Given the description of an element on the screen output the (x, y) to click on. 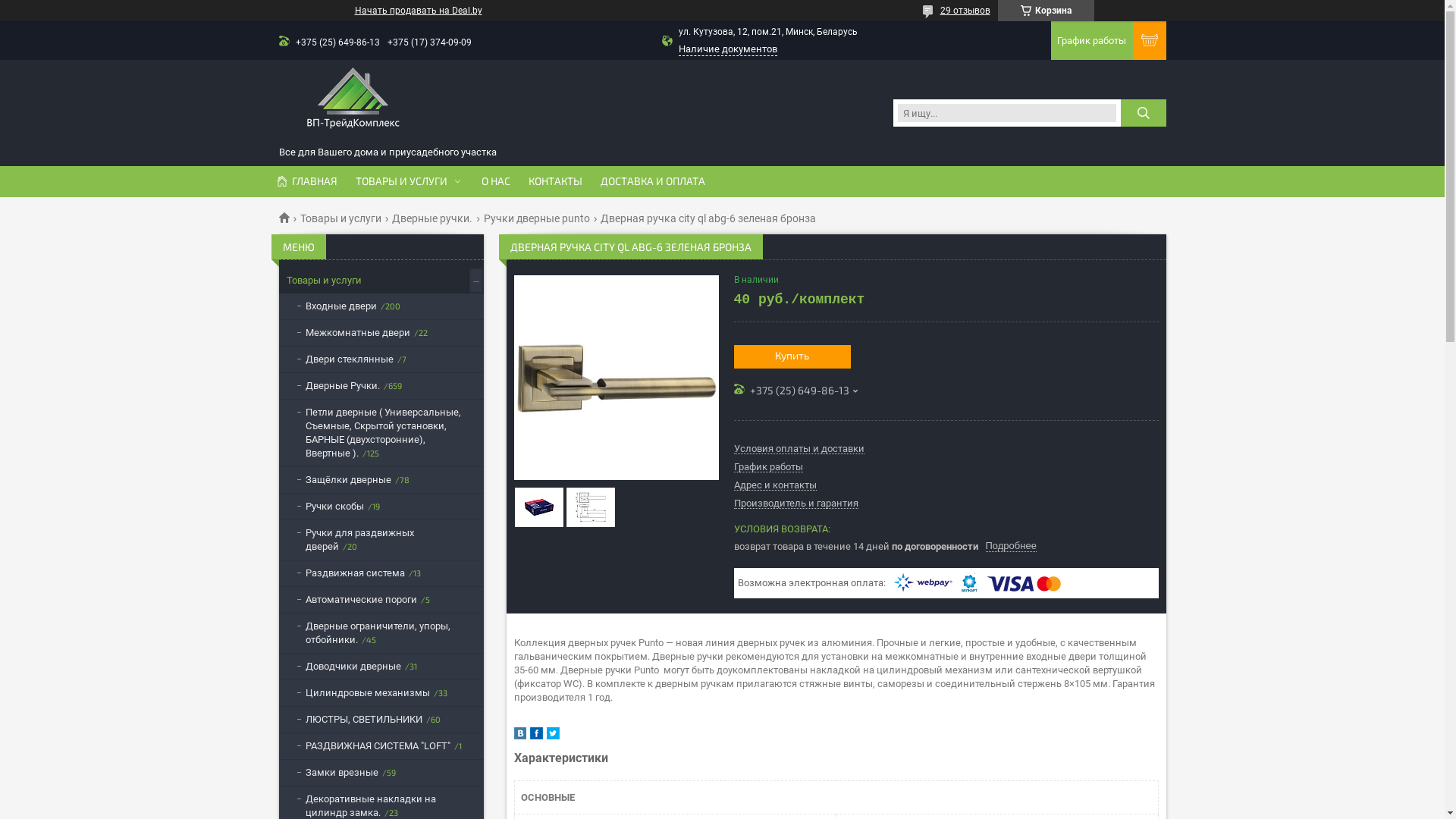
facebook Element type: hover (535, 735)
twitter Element type: hover (552, 735)
